Given the description of an element on the screen output the (x, y) to click on. 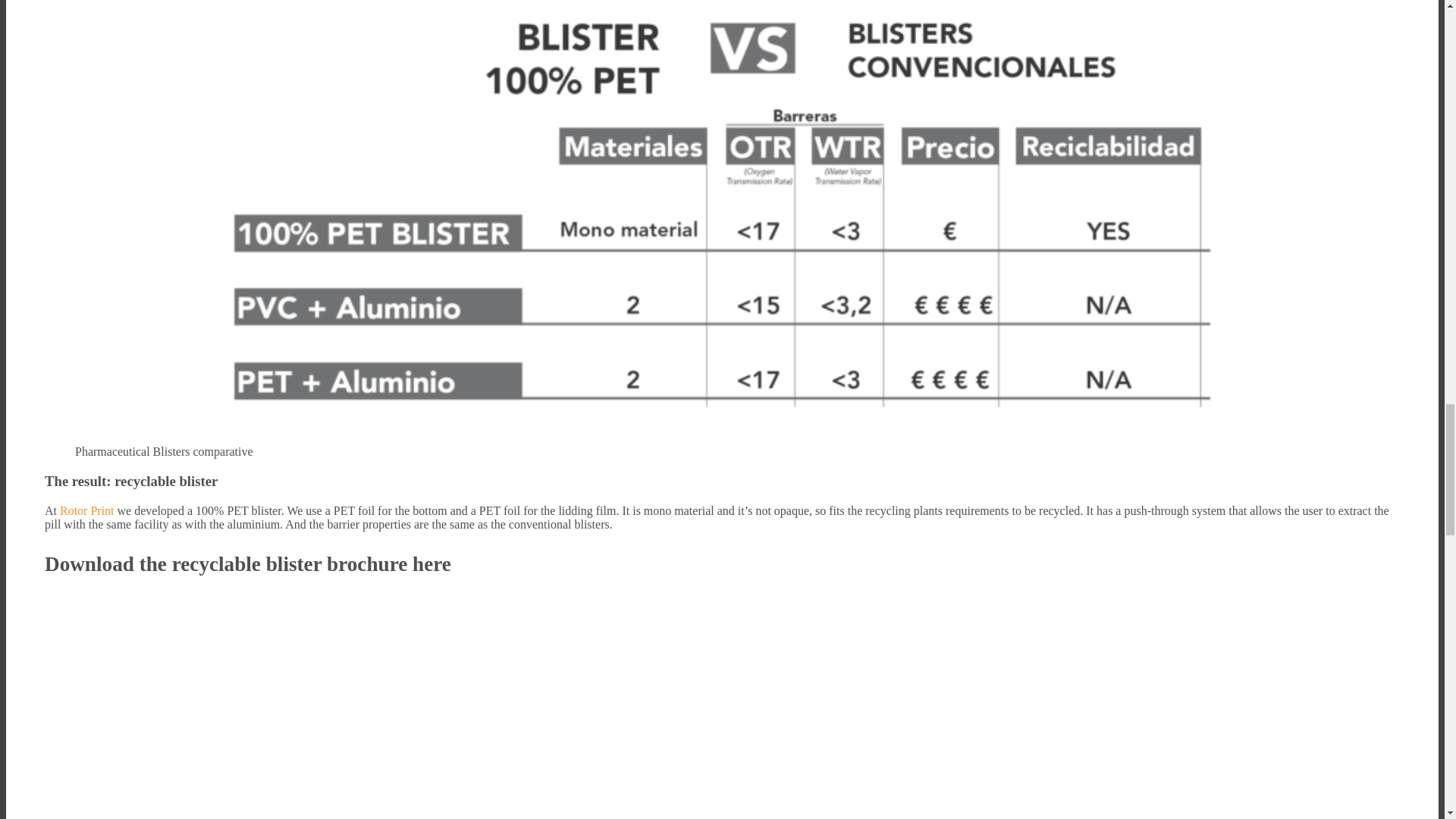
Rotor Print (87, 510)
